Given the description of an element on the screen output the (x, y) to click on. 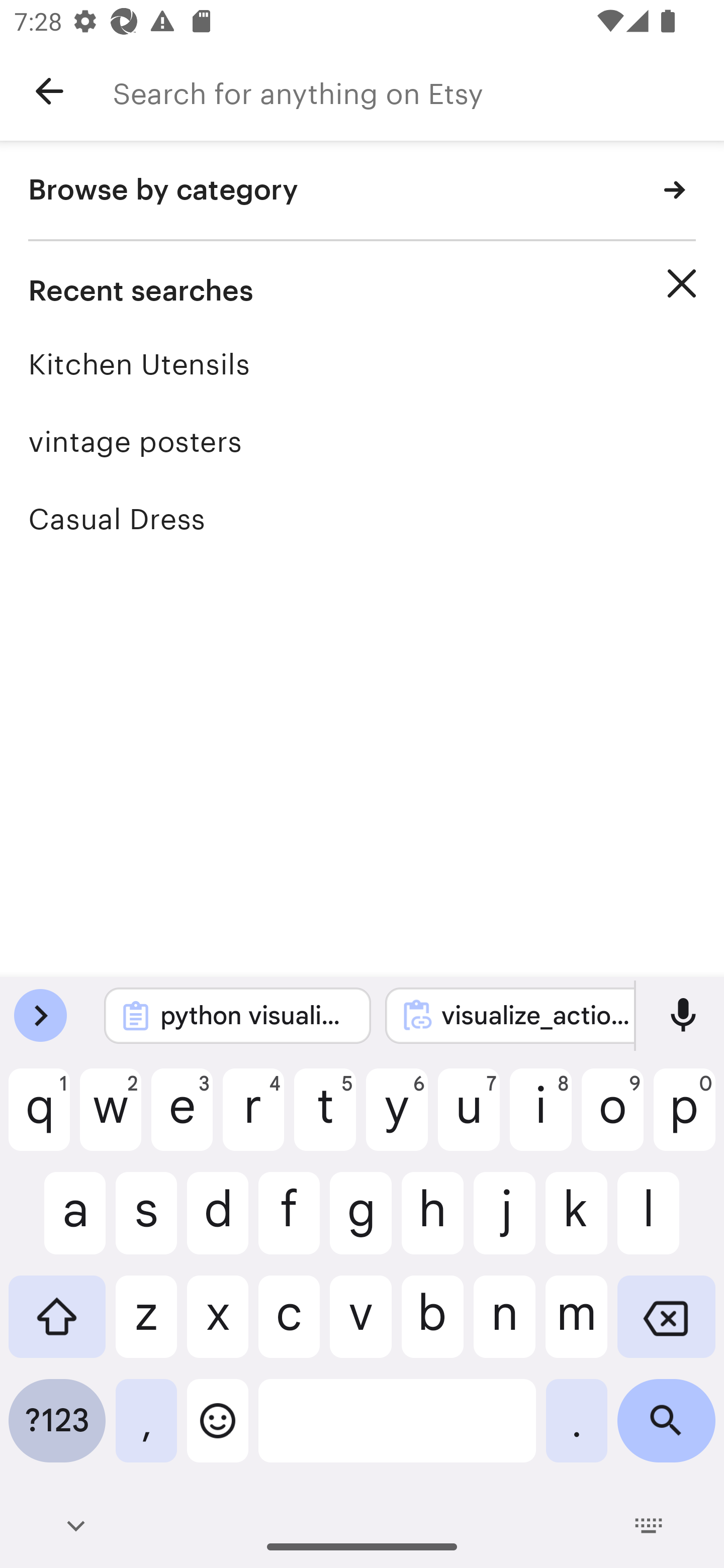
Navigate up (49, 91)
Search for anything on Etsy (418, 91)
Browse by category (362, 191)
Clear (681, 283)
Kitchen Utensils (362, 364)
vintage posters (362, 440)
Casual Dress (362, 518)
